Given the description of an element on the screen output the (x, y) to click on. 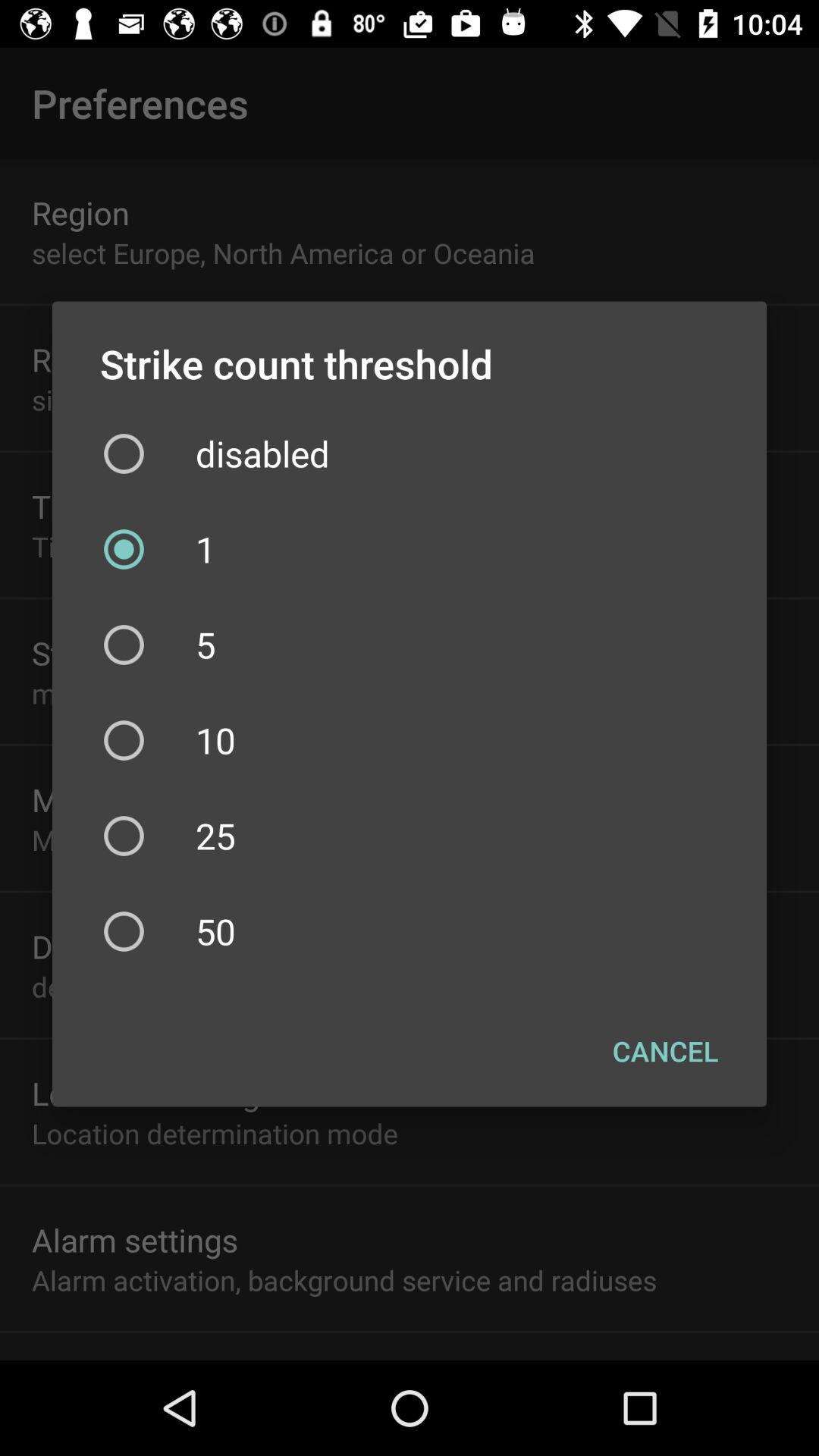
open cancel at the bottom right corner (665, 1050)
